Given the description of an element on the screen output the (x, y) to click on. 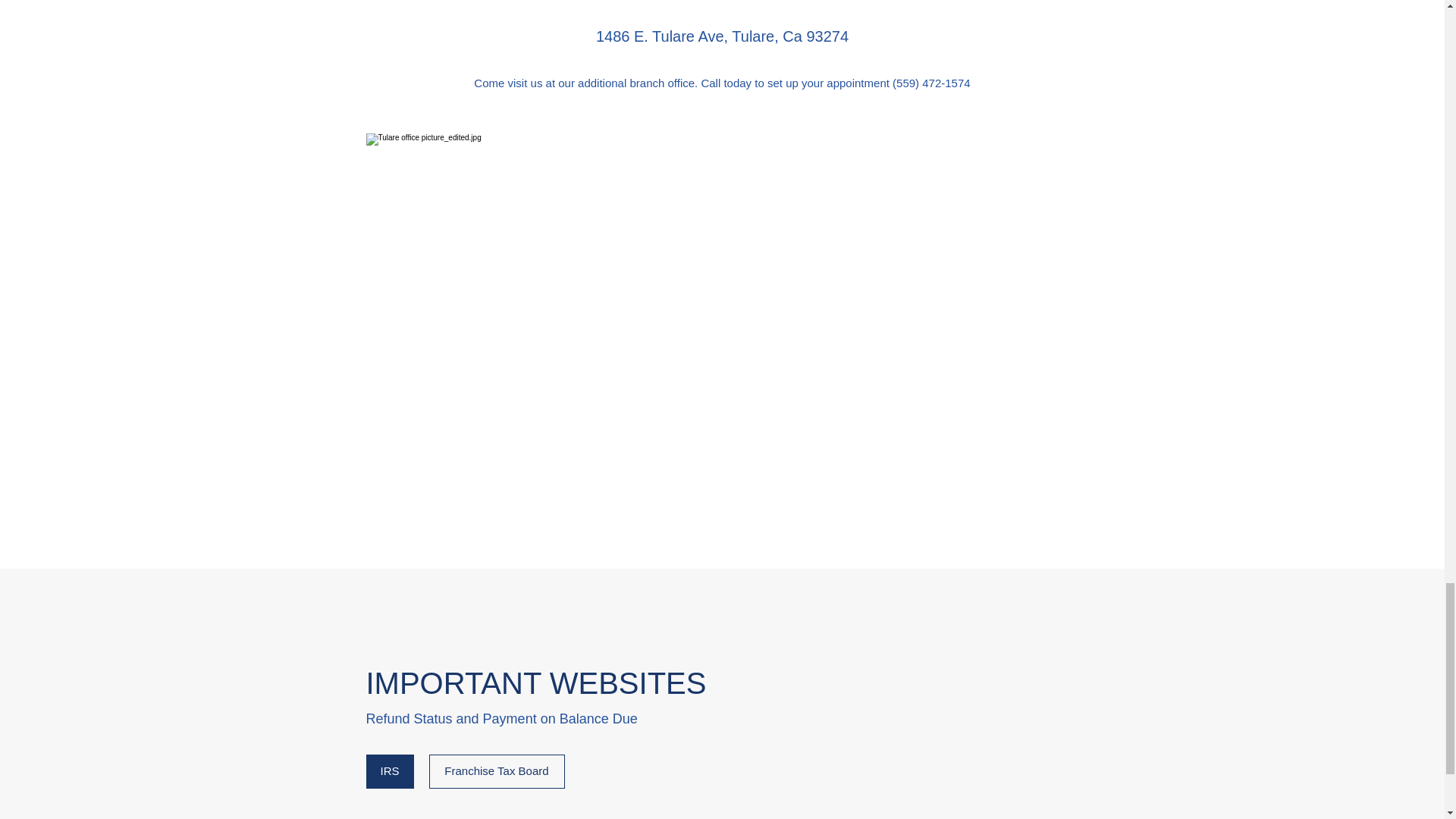
Franchise Tax Board (496, 771)
IRS (389, 771)
